Given the description of an element on the screen output the (x, y) to click on. 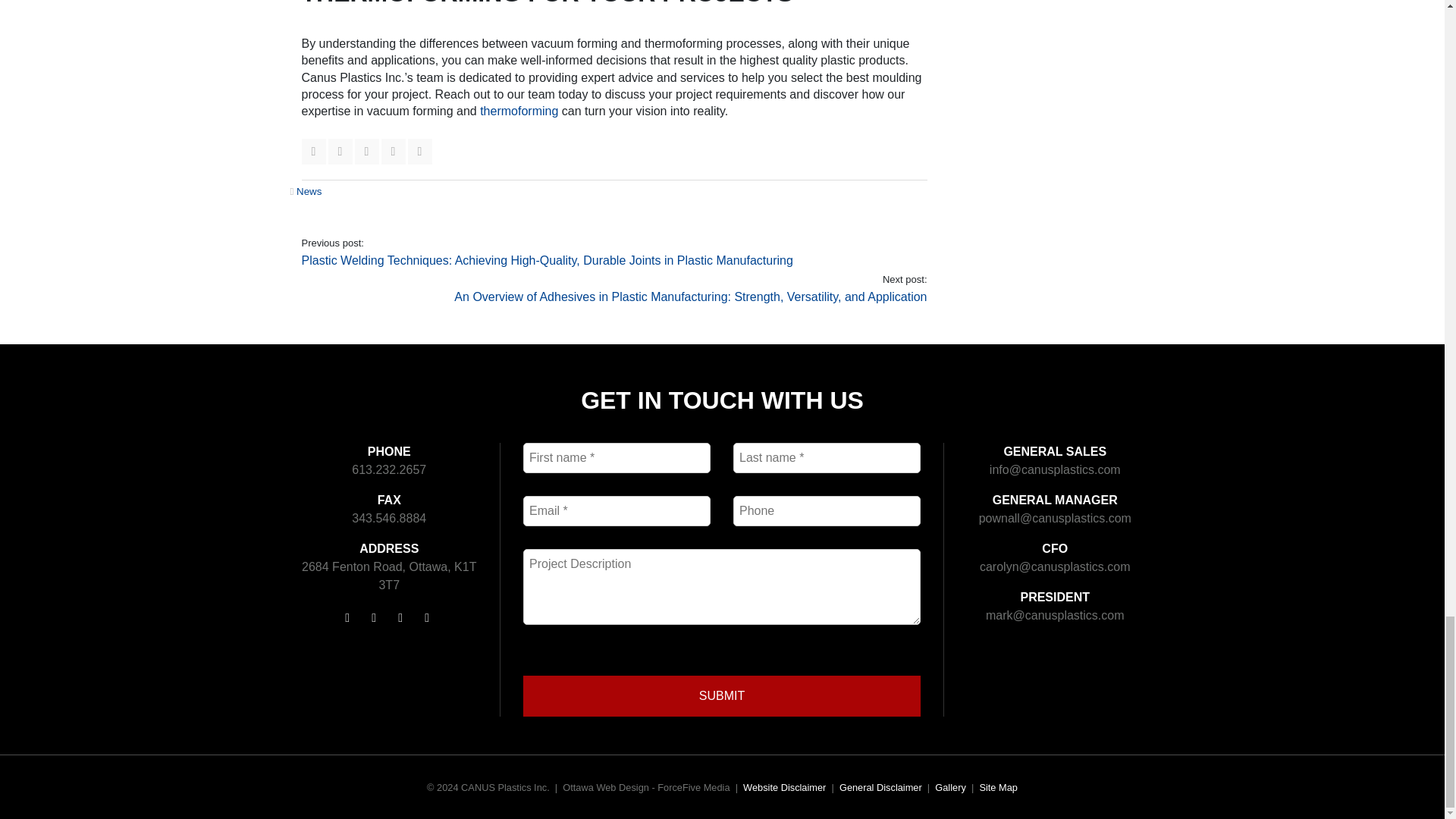
Submit (721, 695)
